Given the description of an element on the screen output the (x, y) to click on. 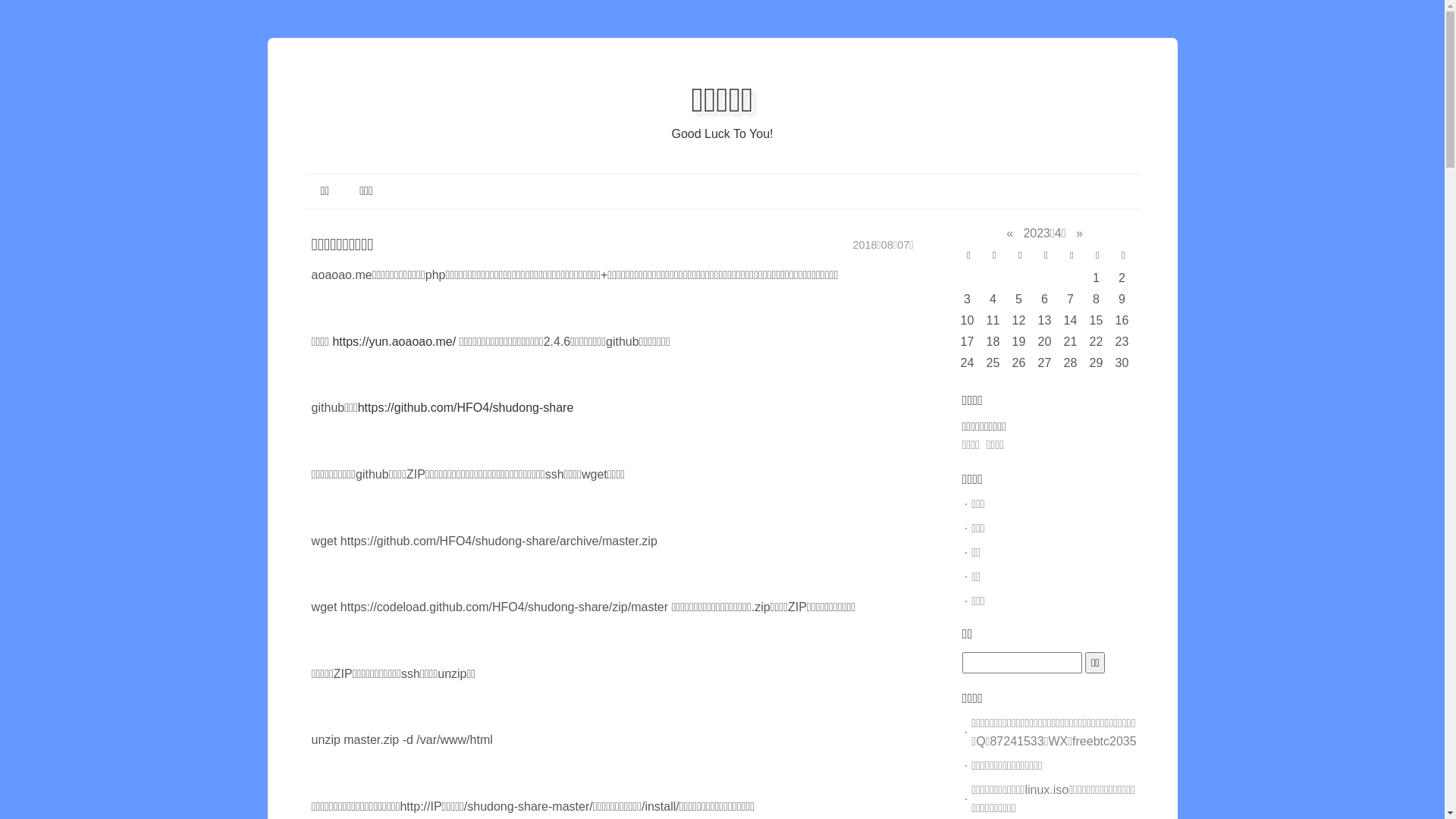
https://github.com/HFO4/shudong-share Element type: text (465, 407)
https://yun.aoaoao.me/ Element type: text (393, 341)
